Given the description of an element on the screen output the (x, y) to click on. 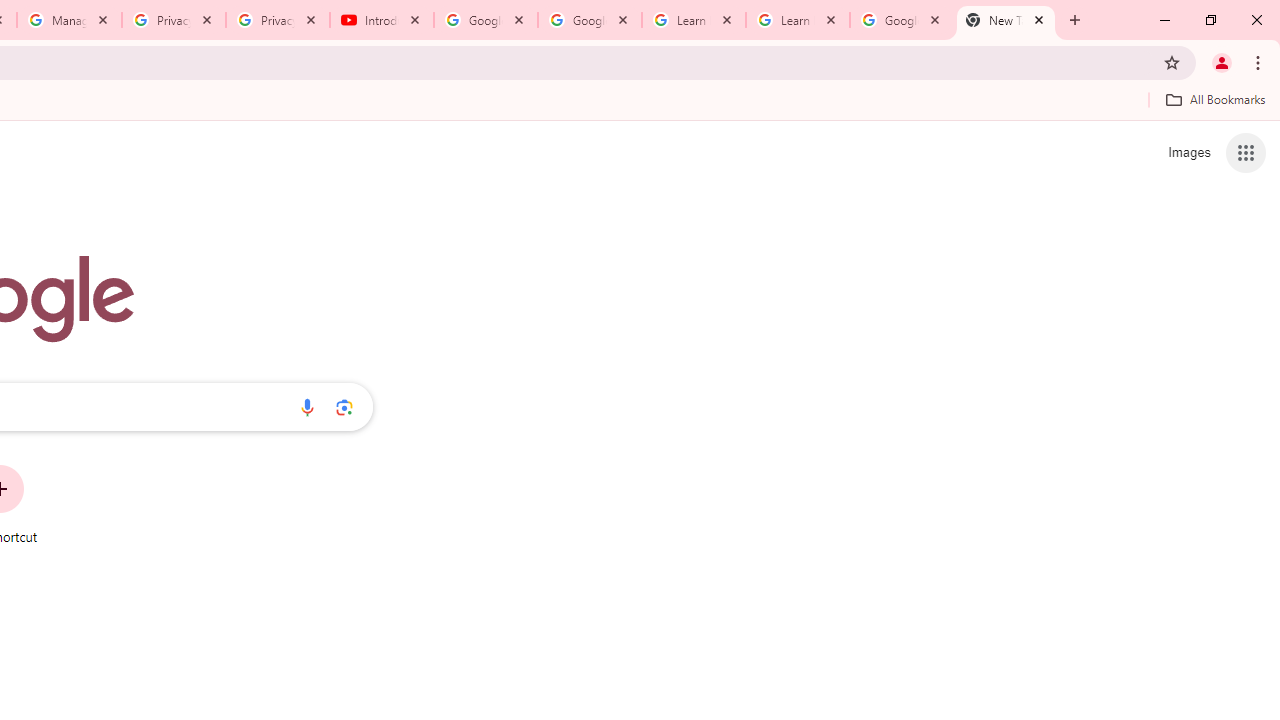
Google Account Help (485, 20)
Introduction | Google Privacy Policy - YouTube (381, 20)
Google Account Help (589, 20)
Search for Images  (1188, 152)
Google Account (901, 20)
New Tab (1005, 20)
